Given the description of an element on the screen output the (x, y) to click on. 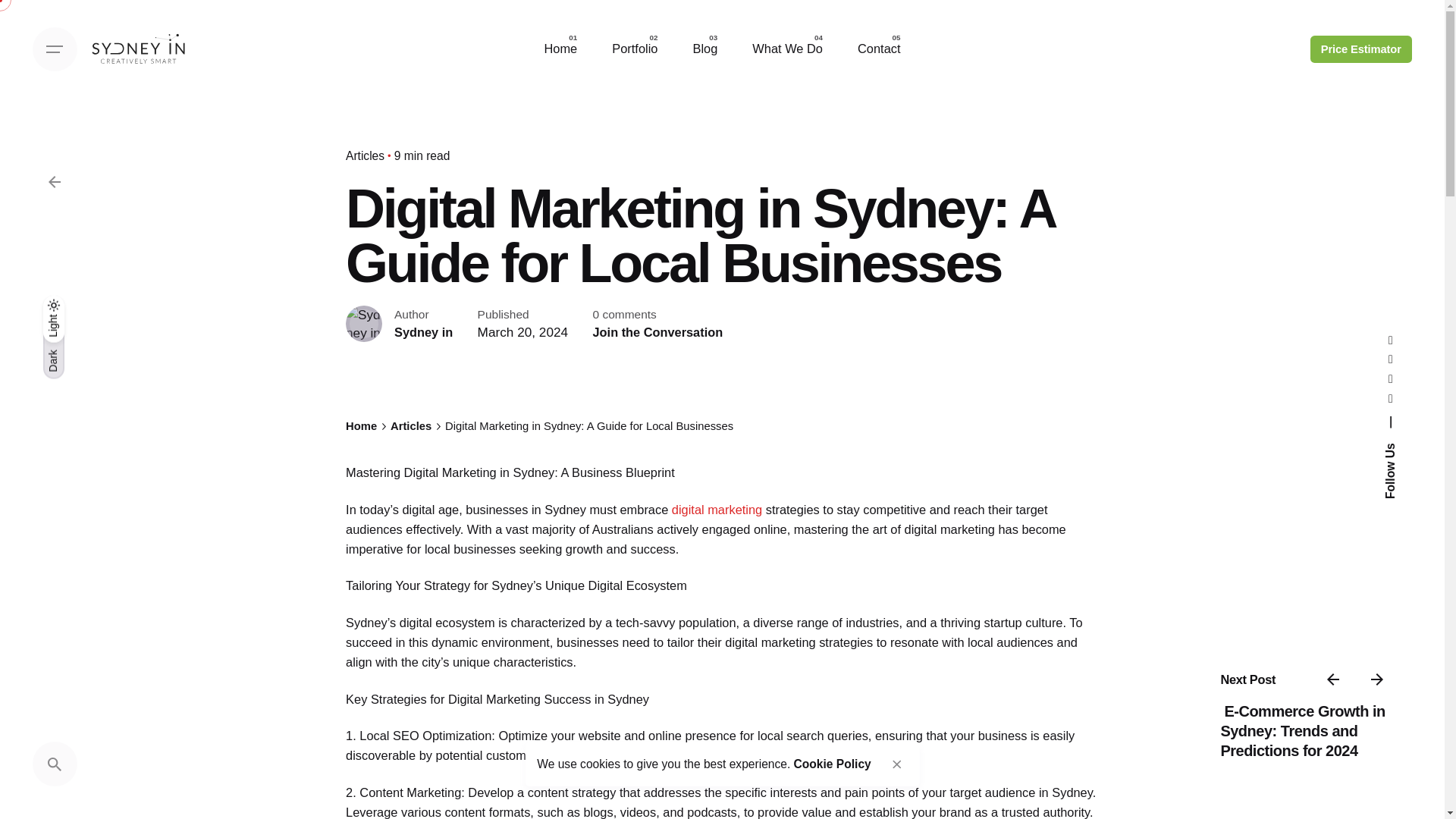
Home (559, 49)
Blog (705, 49)
Contact (879, 49)
Portfolio (634, 49)
What We Do (787, 49)
Price Estimator (1361, 49)
